Given the description of an element on the screen output the (x, y) to click on. 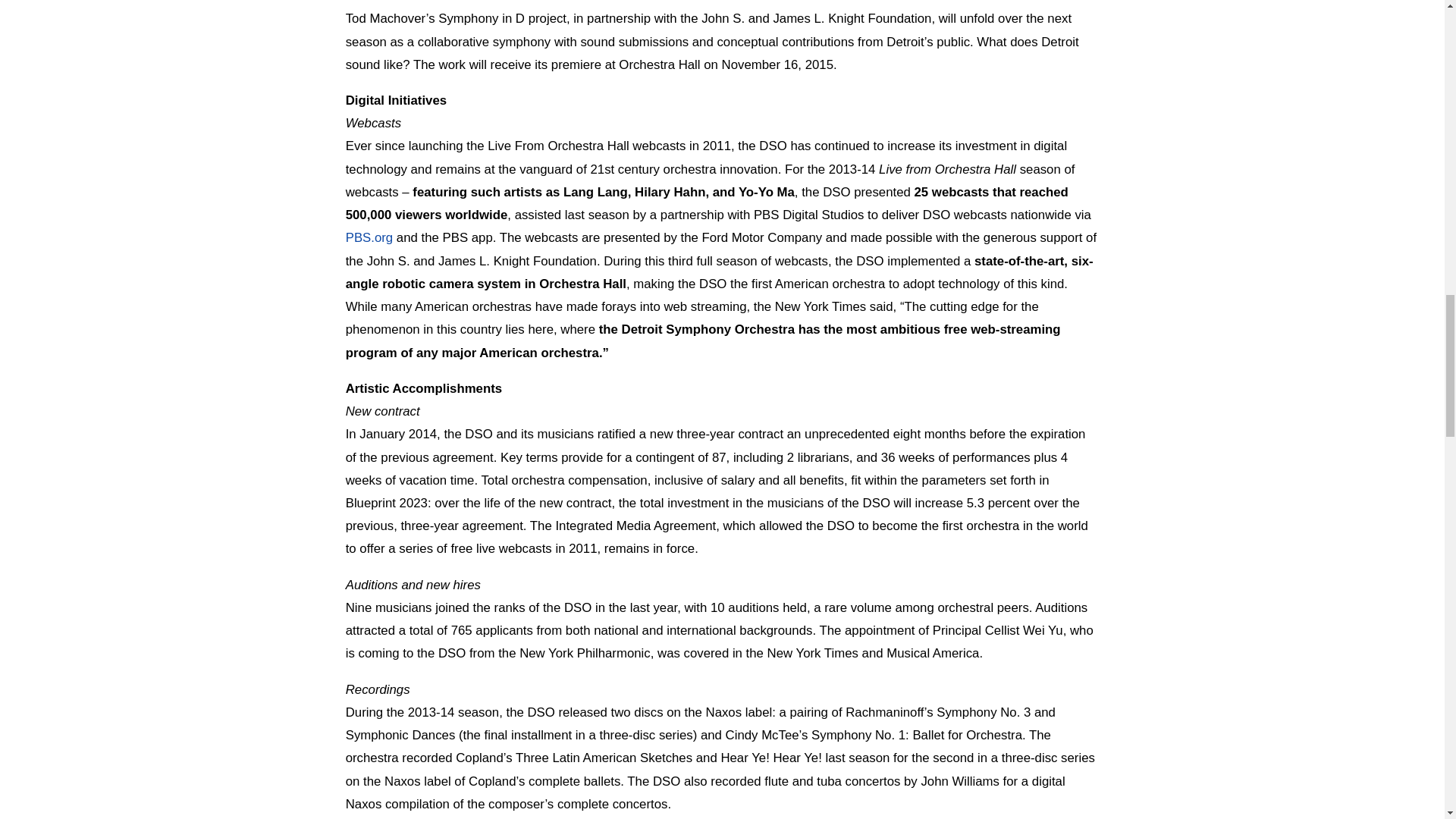
PBS.org (369, 237)
